Given the description of an element on the screen output the (x, y) to click on. 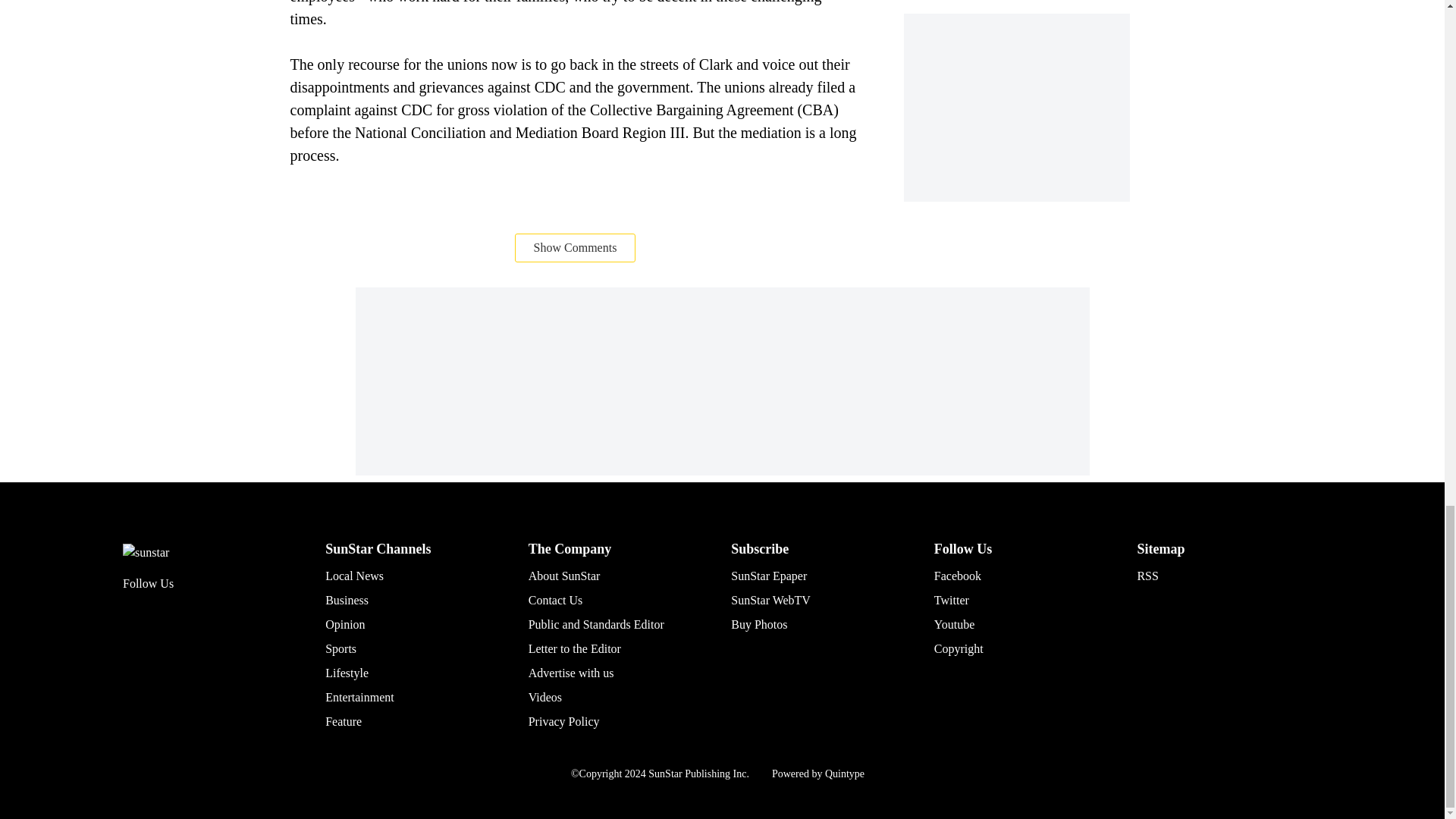
Opinion (344, 624)
Show Comments (575, 247)
Business (346, 599)
Sports (340, 648)
Local News (354, 575)
